Given the description of an element on the screen output the (x, y) to click on. 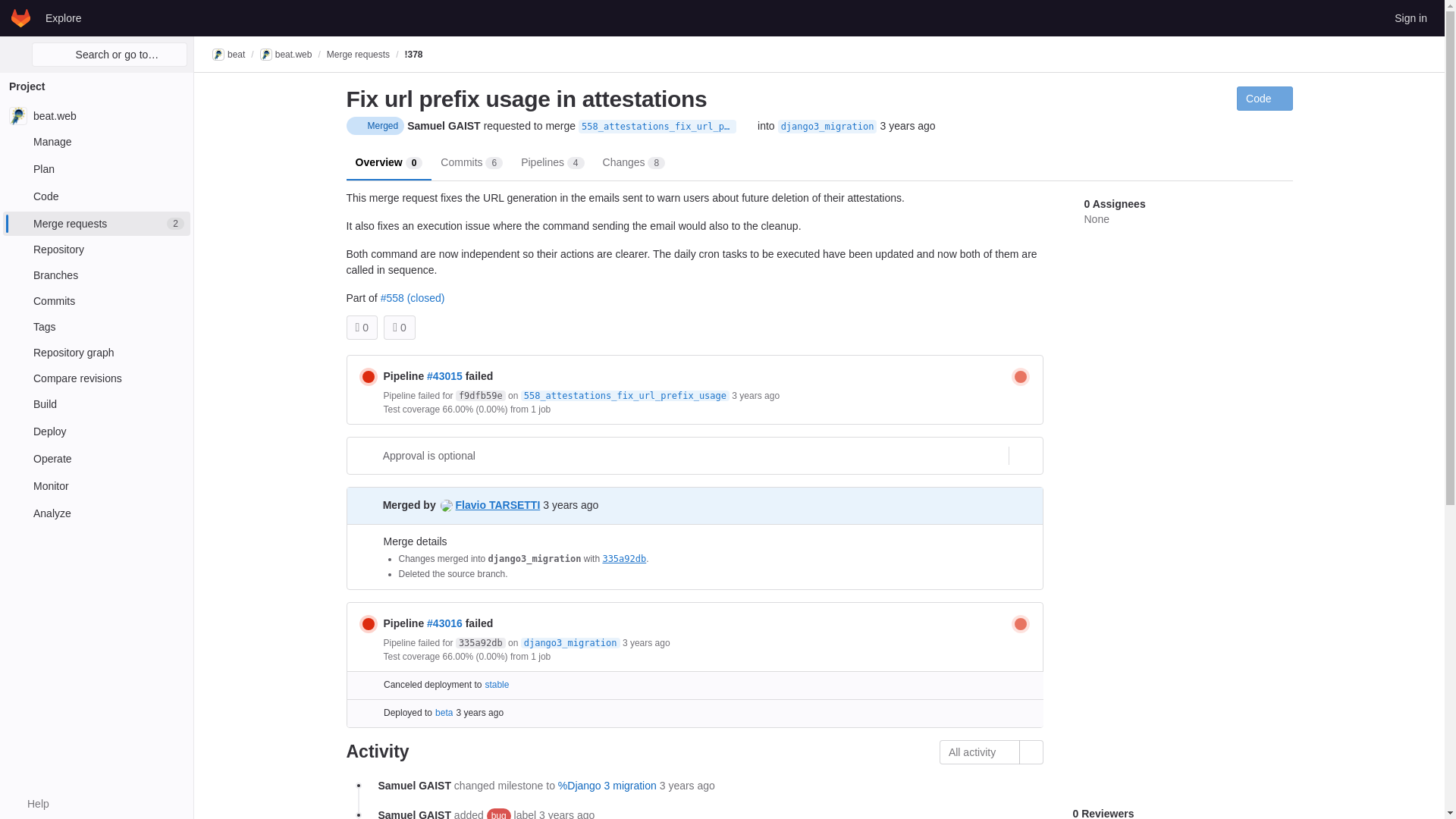
beat.web (96, 115)
Build (96, 404)
build: failed (1020, 375)
Repository (96, 249)
Sign in (1410, 17)
Branches (96, 274)
Repository graph (96, 352)
Collapse eligible approvers (1023, 454)
Plan (96, 168)
Monitor (96, 485)
thumbs up sign (357, 327)
Manage (96, 141)
Commits (96, 300)
thumbs down sign (395, 327)
